Given the description of an element on the screen output the (x, y) to click on. 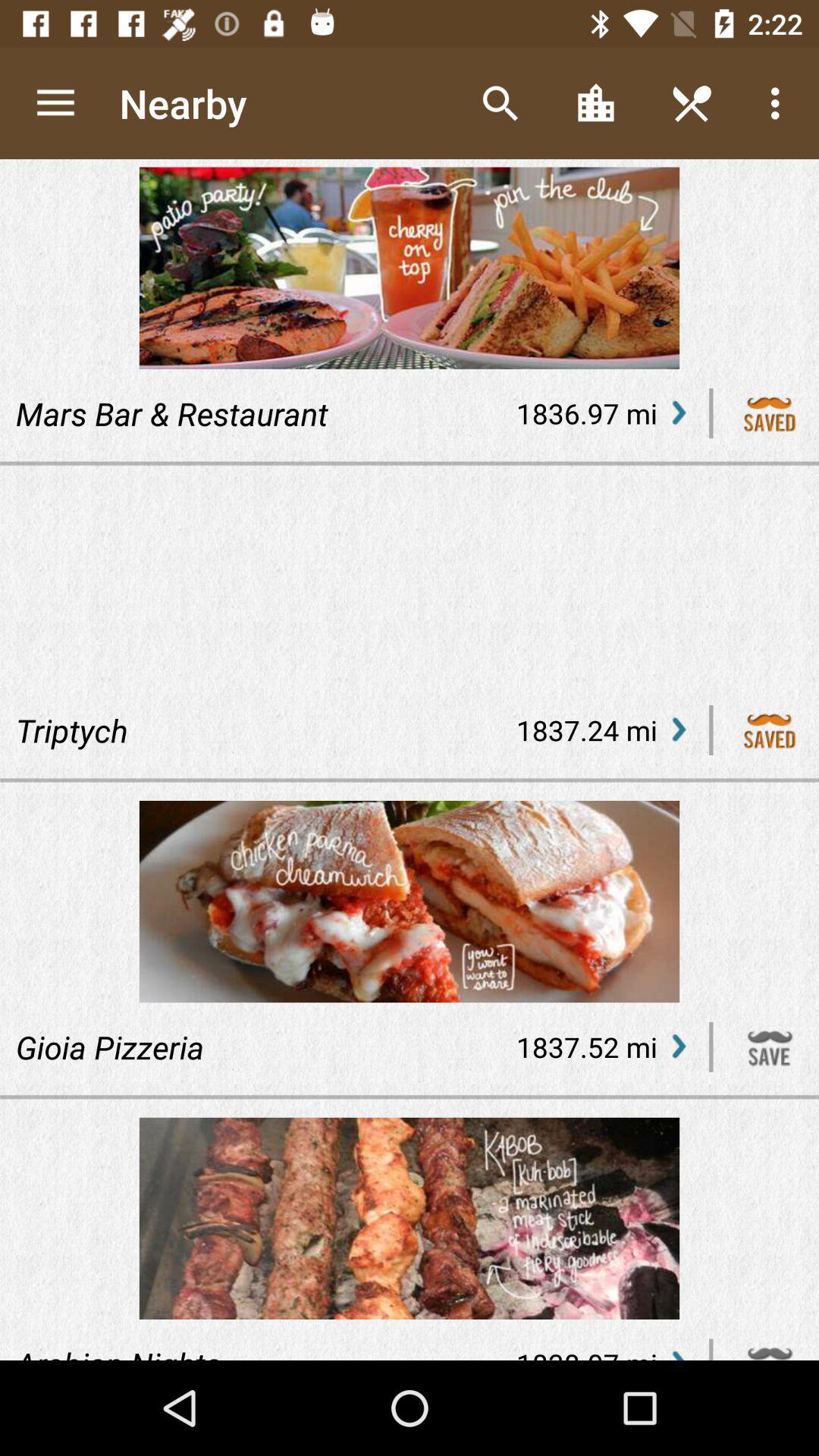
item saved (770, 413)
